Given the description of an element on the screen output the (x, y) to click on. 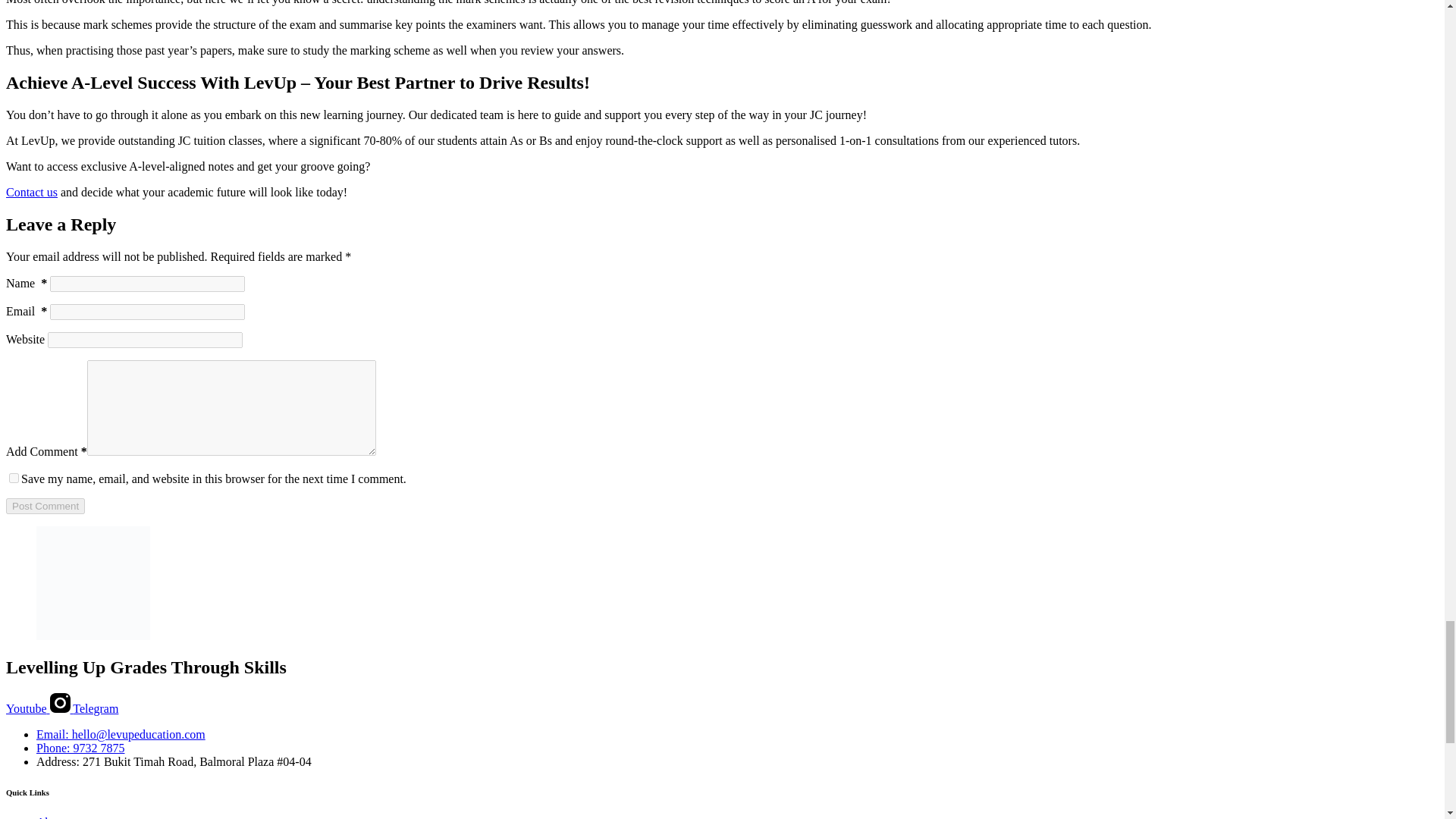
Contact us (31, 192)
Youtube (27, 707)
Telegram (94, 707)
Post Comment (44, 505)
yes (13, 478)
